Given the description of an element on the screen output the (x, y) to click on. 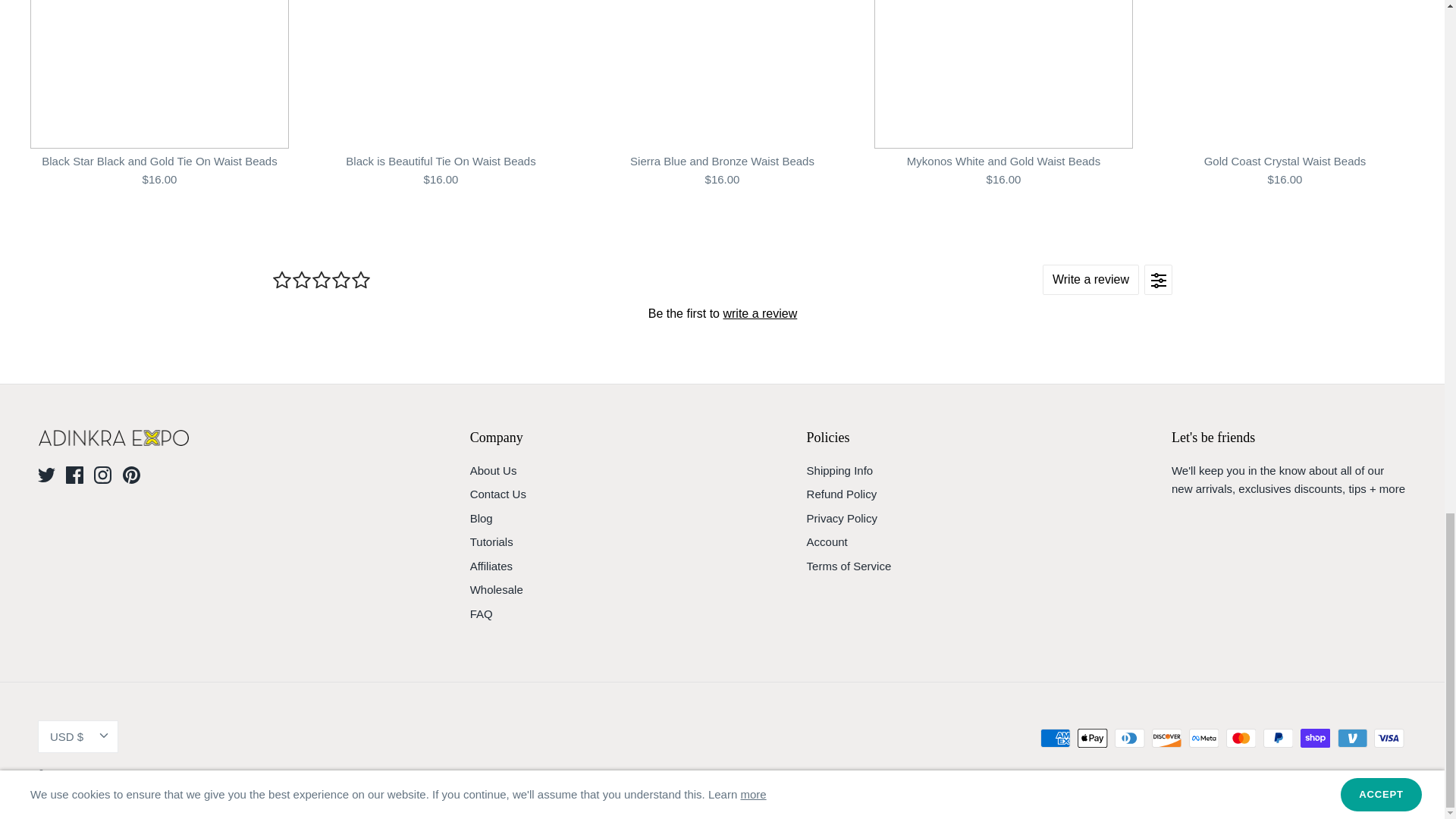
Instagram (103, 475)
Facebook (73, 475)
American Express (1055, 737)
Twitter (46, 475)
Pinterest (130, 475)
Product reviews widget (721, 293)
